Given the description of an element on the screen output the (x, y) to click on. 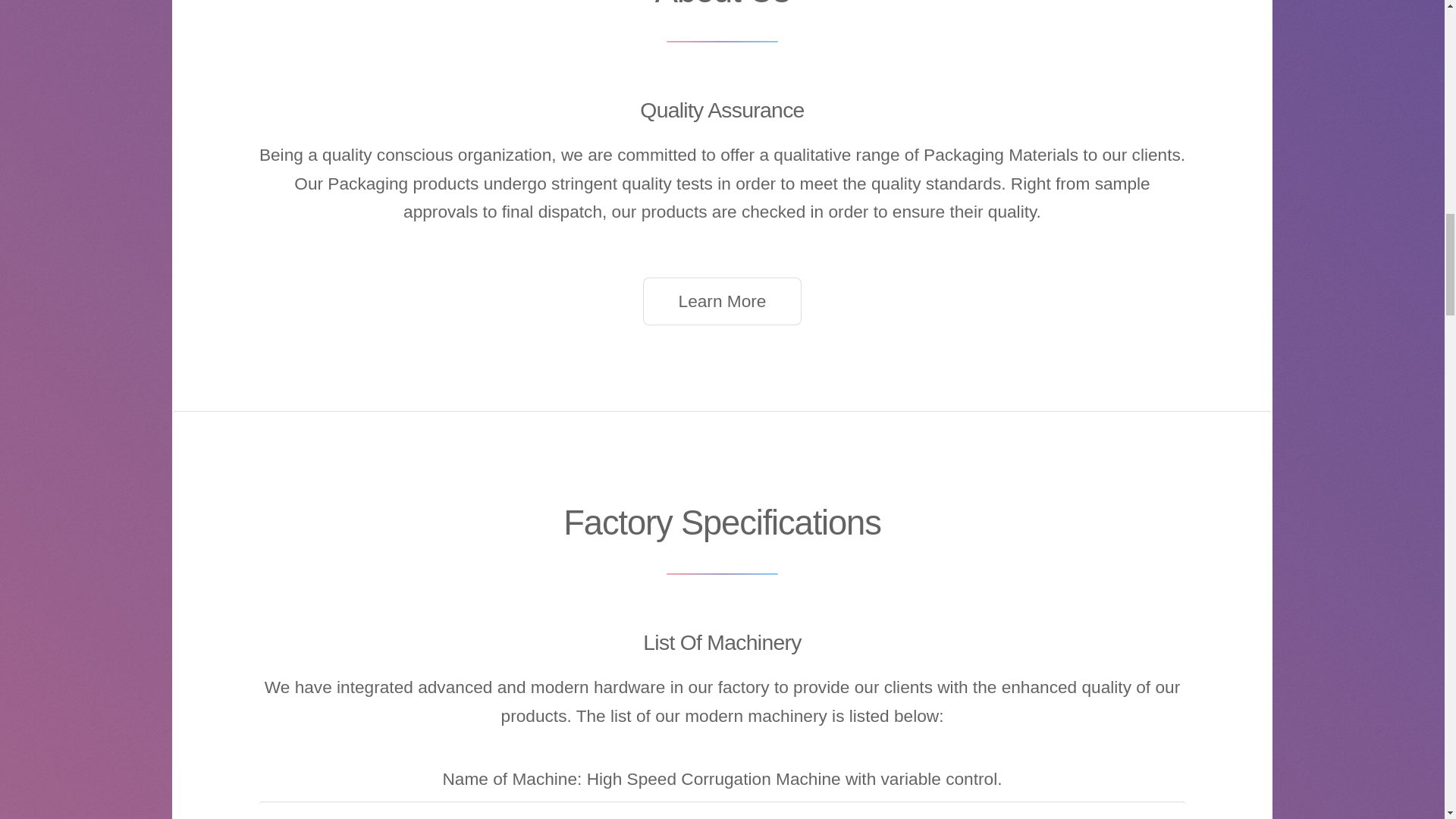
Learn More (722, 300)
